Given the description of an element on the screen output the (x, y) to click on. 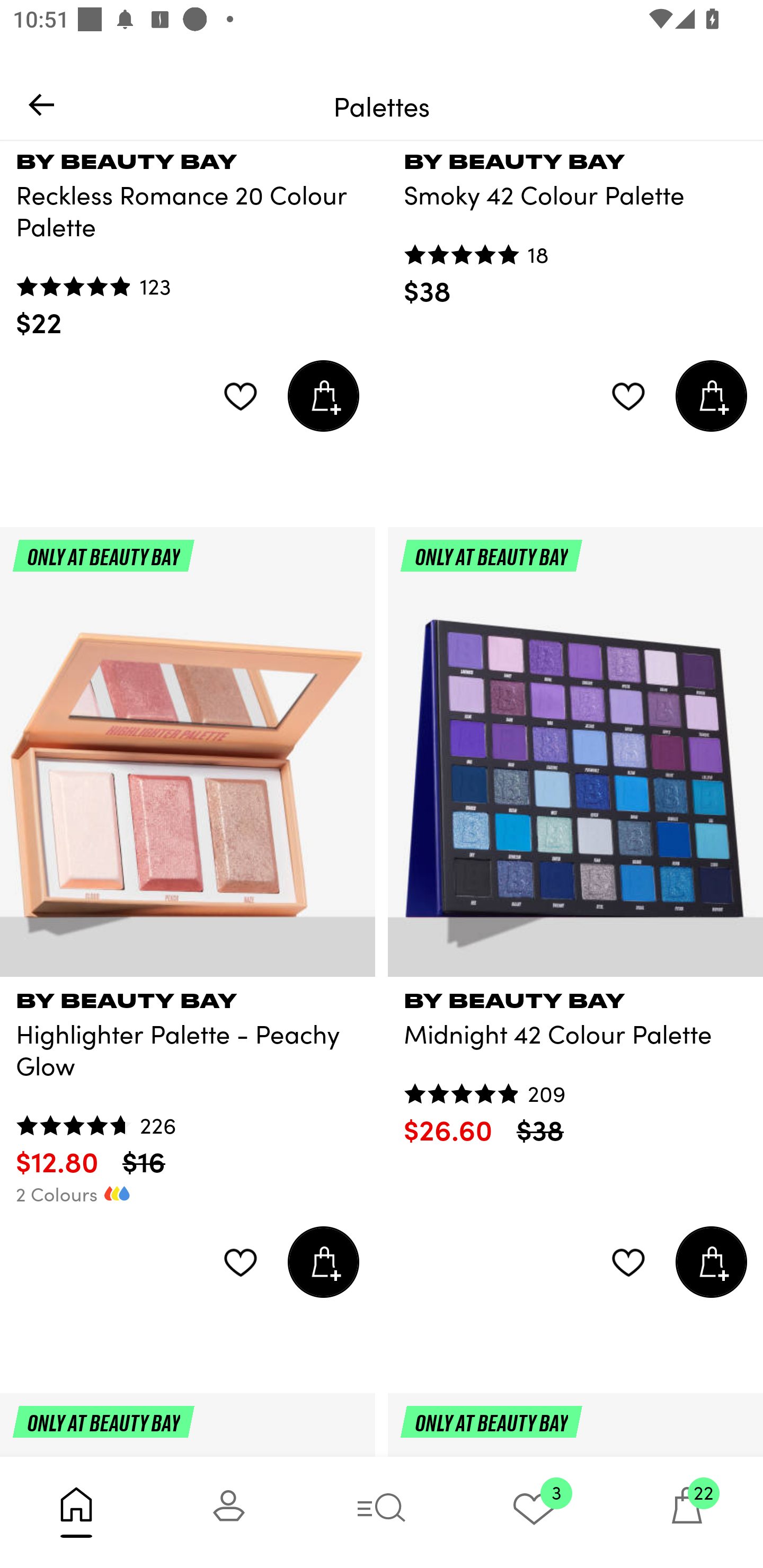
3 (533, 1512)
22 (686, 1512)
